Given the description of an element on the screen output the (x, y) to click on. 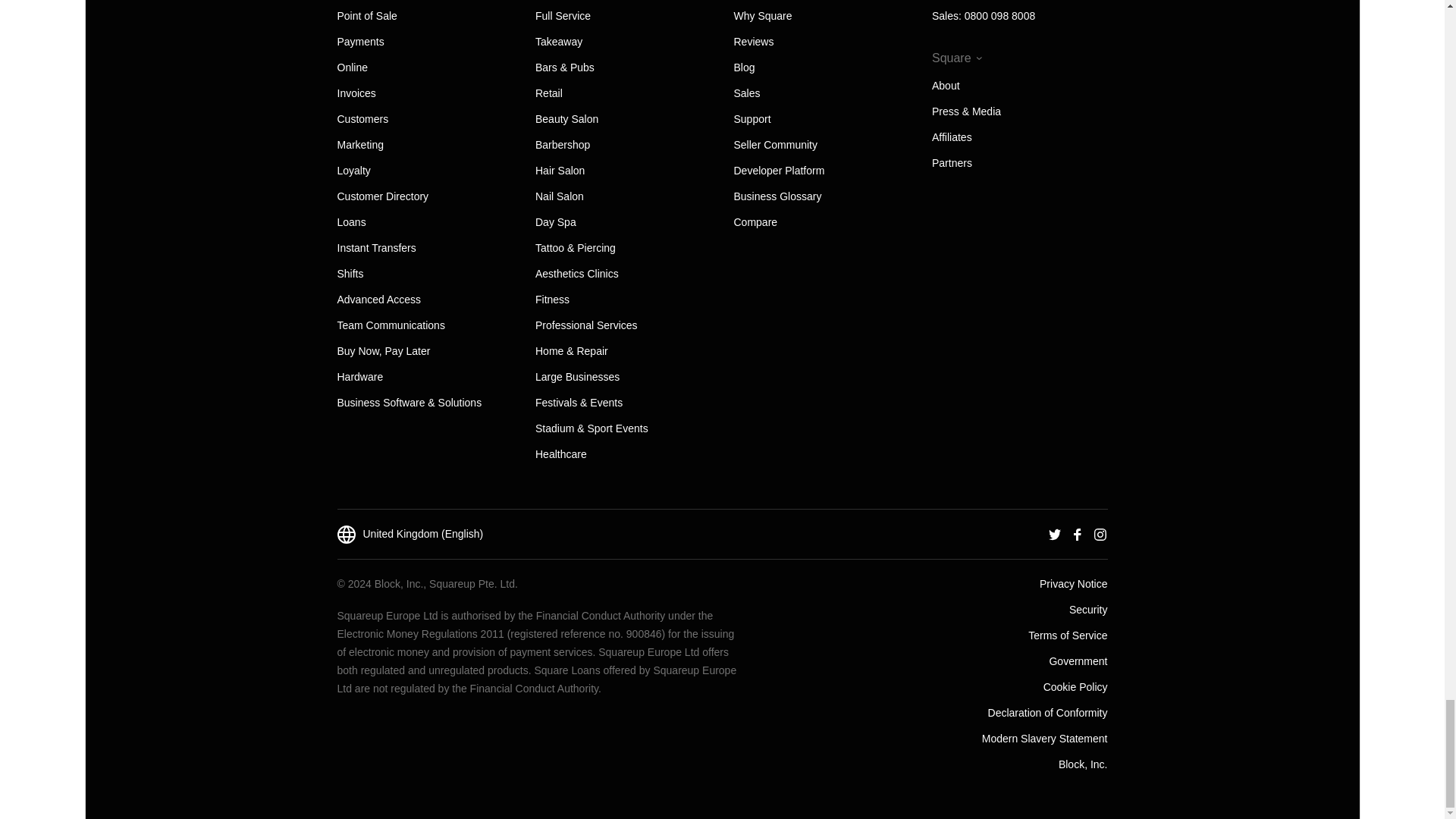
Instant Transfers (375, 247)
Instagram (1099, 533)
Loans (350, 222)
Team Communications (390, 325)
Payments (360, 41)
Customers (362, 119)
Marketing (359, 144)
Hardware (359, 377)
Customer Directory (382, 196)
Point of Sale (366, 15)
